Given the description of an element on the screen output the (x, y) to click on. 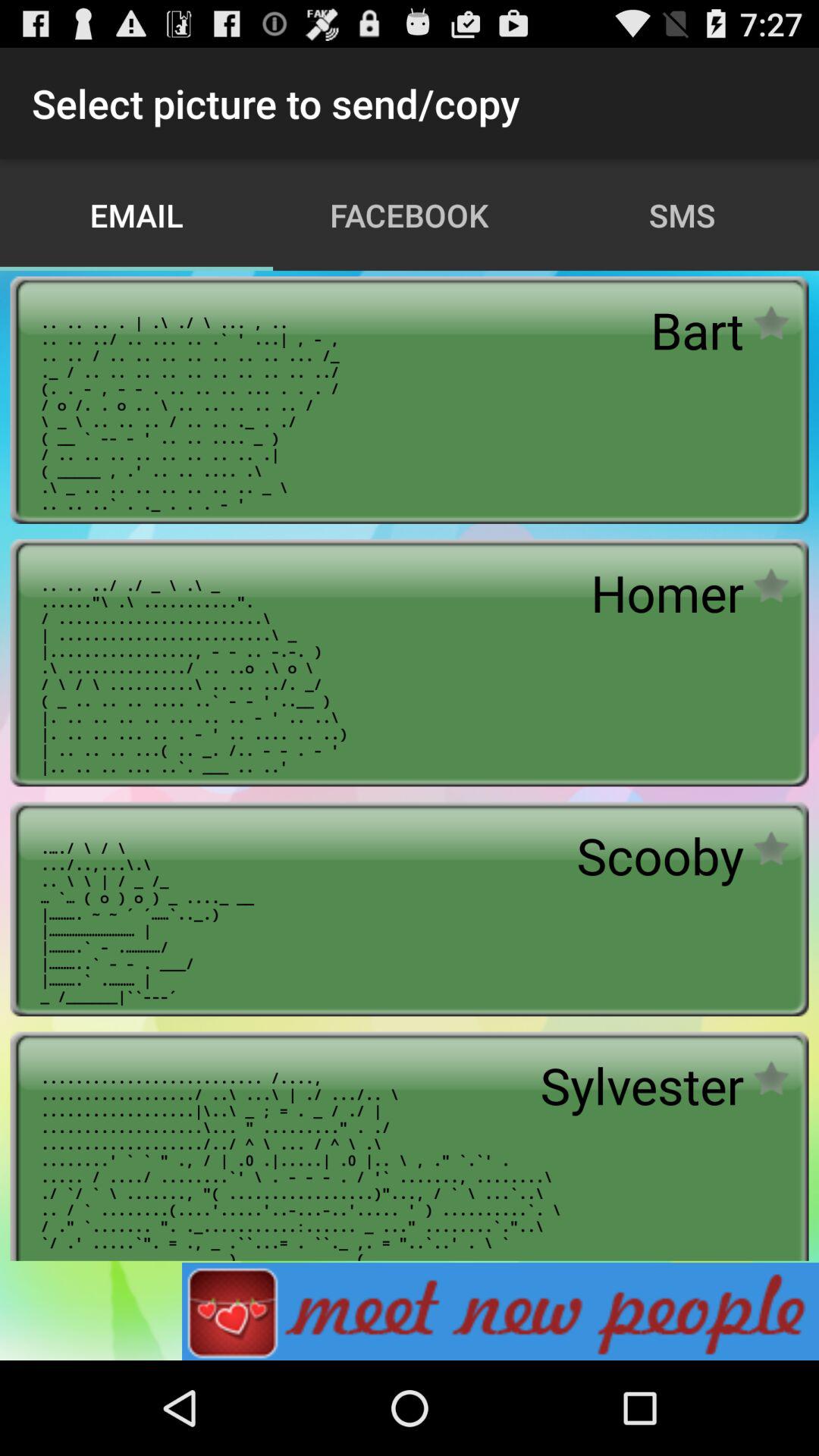
open the icon below the bart app (666, 592)
